Given the description of an element on the screen output the (x, y) to click on. 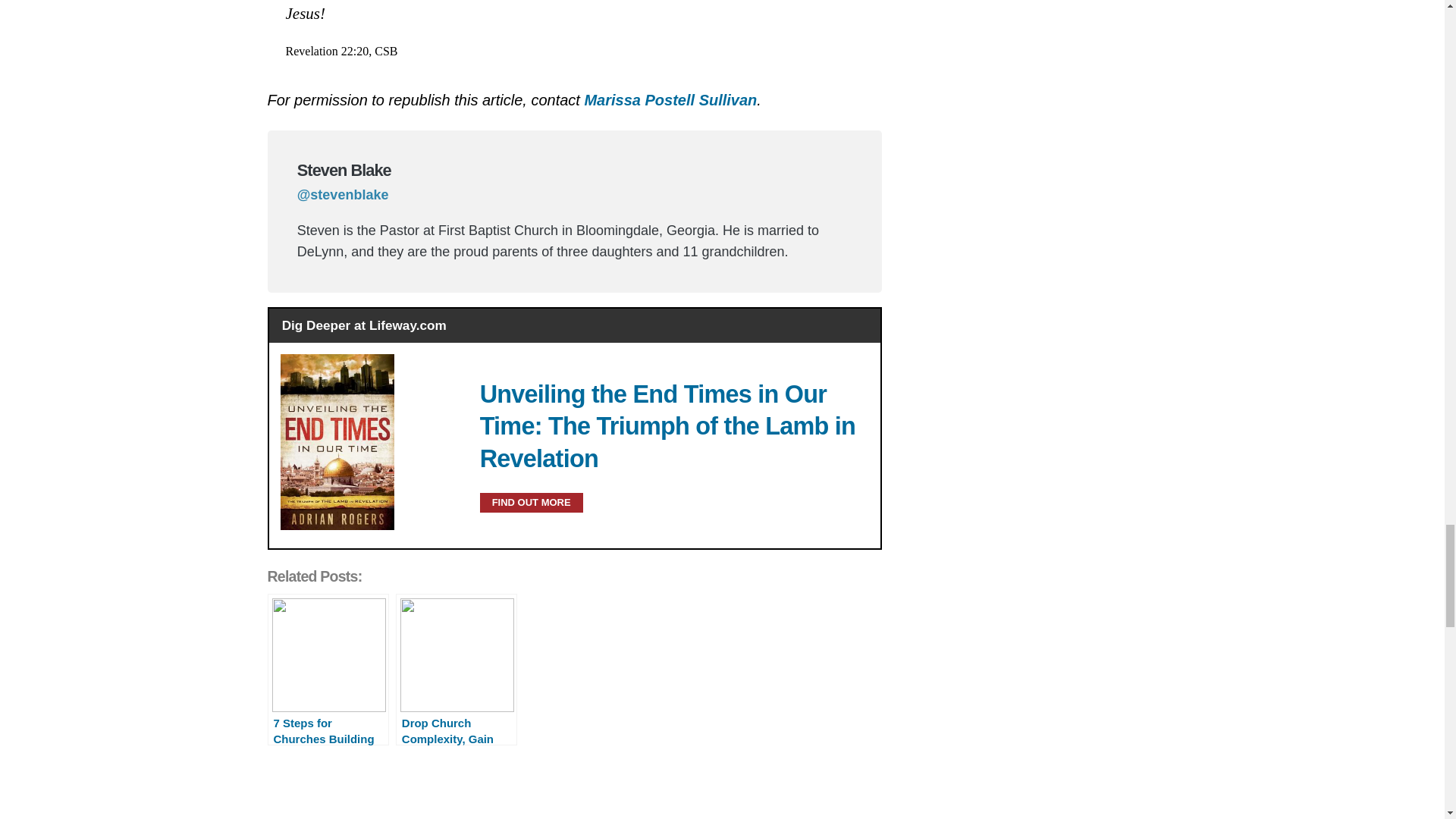
Marissa Postell Sullivan (670, 99)
FIND OUT MORE (531, 502)
